Given the description of an element on the screen output the (x, y) to click on. 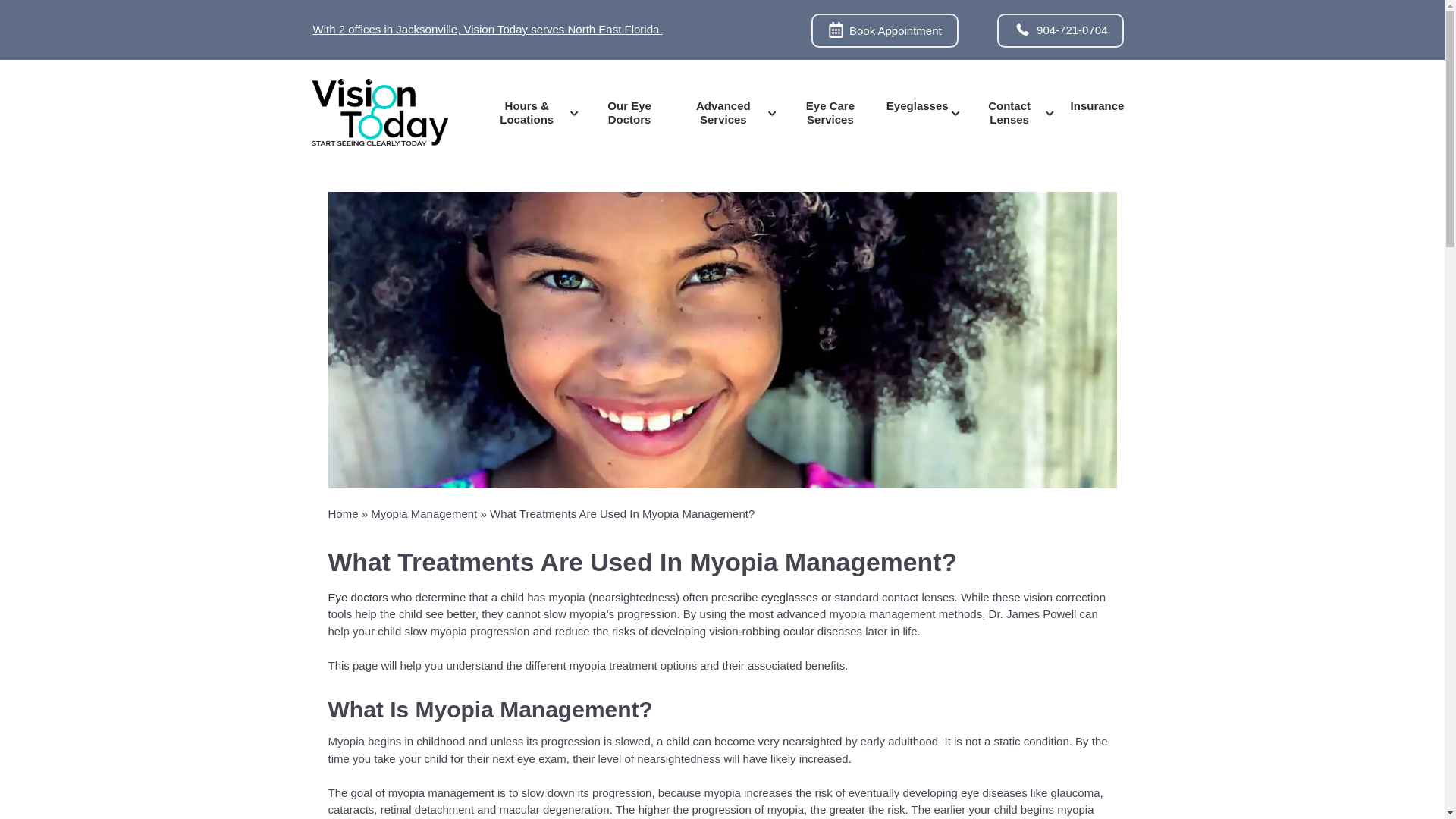
Book Appointment (884, 30)
Home (342, 512)
Our Eye Doctors (629, 112)
Eye Care Services (830, 112)
Myopia Management (424, 512)
Advanced Services (727, 112)
904-721-0704 (1060, 30)
Insurance (1097, 105)
Contact Lenses (1014, 112)
Eyeglasses (922, 105)
